Given the description of an element on the screen output the (x, y) to click on. 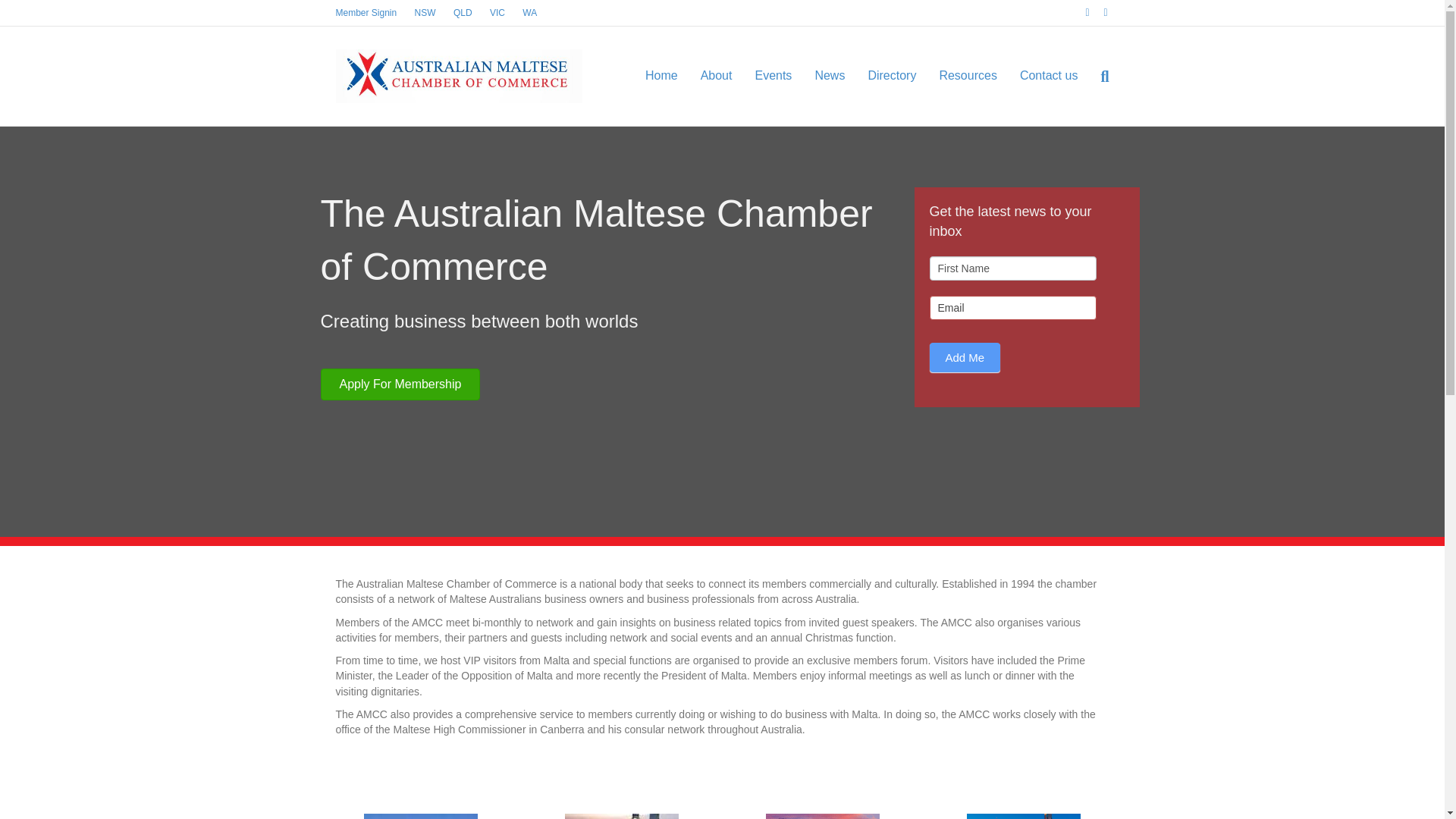
NSW Element type: text (425, 12)
News Element type: text (829, 75)
Directory Element type: text (891, 75)
VIC Element type: text (497, 12)
Resources Element type: text (967, 75)
QLD Element type: text (462, 12)
WA Element type: text (529, 12)
Events Element type: text (773, 75)
About Element type: text (716, 75)
Add Me Element type: text (965, 357)
Linkedin Element type: text (1097, 11)
Member Signin Element type: text (365, 12)
Contact us Element type: text (1048, 75)
Home Element type: text (661, 75)
Facebook Element type: text (1079, 11)
Apply For Membership Element type: text (400, 384)
